Given the description of an element on the screen output the (x, y) to click on. 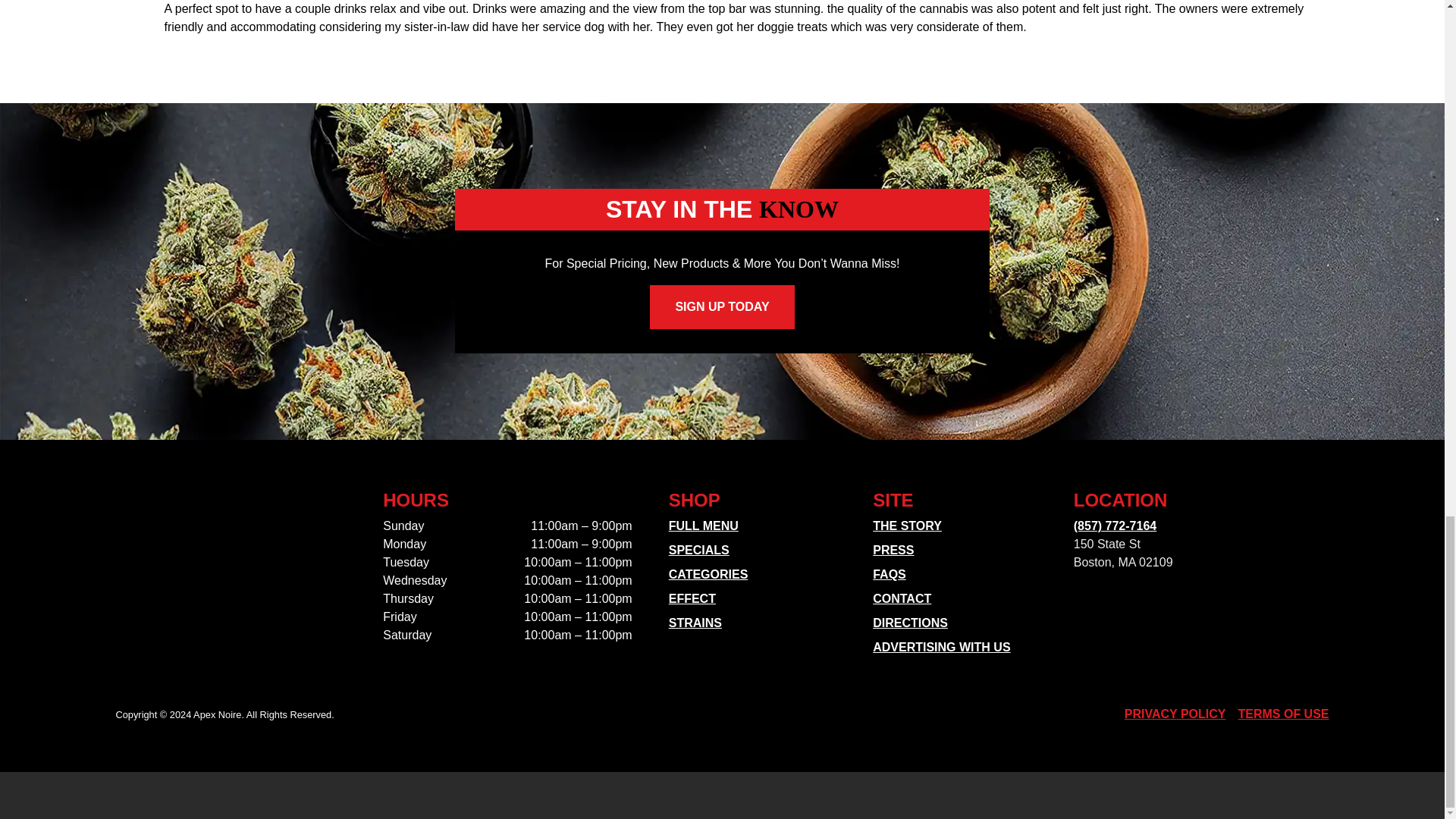
Go to Loyalty Sign-Up (721, 307)
